Given the description of an element on the screen output the (x, y) to click on. 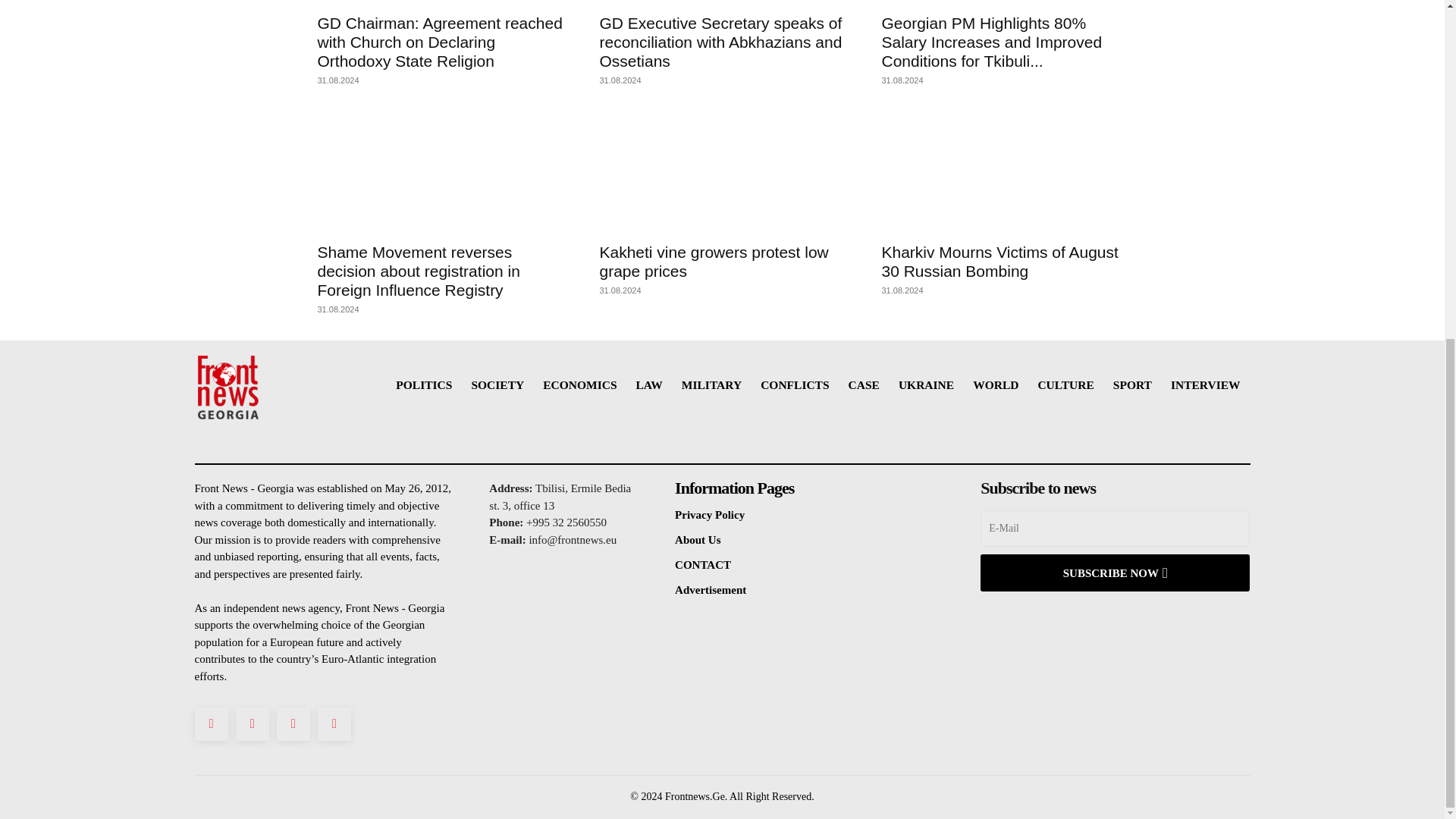
Kakheti vine growers protest low grape prices (721, 171)
